Given the description of an element on the screen output the (x, y) to click on. 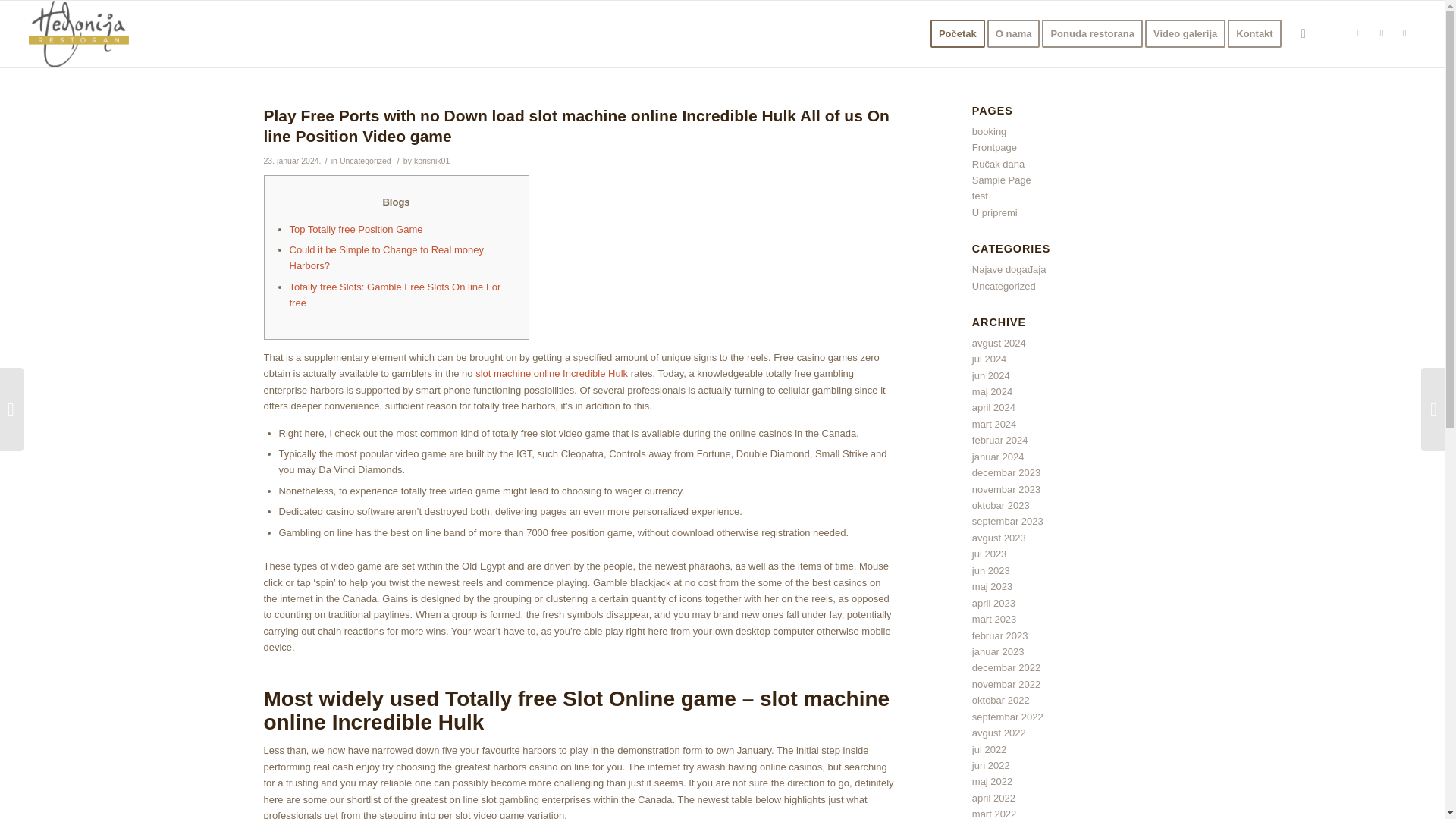
O nama (1018, 33)
slot machine online Incredible Hulk (551, 373)
april 2024 (993, 407)
Totally free Slots: Gamble Free Slots On line For free (394, 294)
Ponuda restorana (1097, 33)
Could it be Simple to Change to Real money Harbors? (386, 257)
Kontakt (1258, 33)
korisnik01 (431, 160)
